Given the description of an element on the screen output the (x, y) to click on. 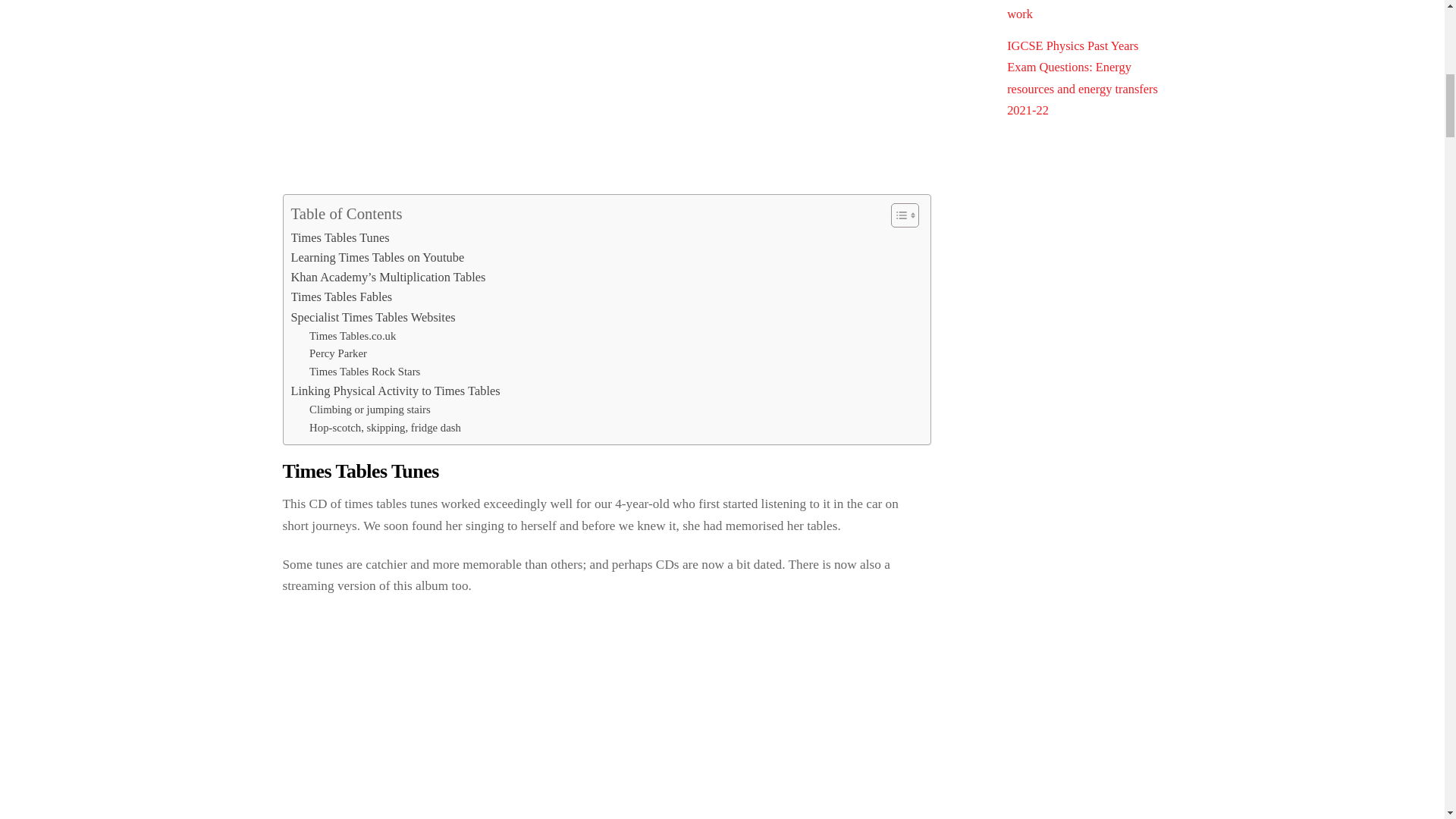
Times Tables Tunes (340, 237)
Times Tables Fables (342, 297)
Times Tables.co.uk (352, 336)
Times Tables Fables (342, 297)
Learning Times Tables on Youtube (377, 257)
Learning Times Tables on Youtube (377, 257)
Specialist Times Tables Websites (373, 317)
Specialist Times Tables Websites (373, 317)
Times Tables Rock Stars (364, 372)
Percy Parker (337, 353)
Times Tables Tunes (340, 237)
